Given the description of an element on the screen output the (x, y) to click on. 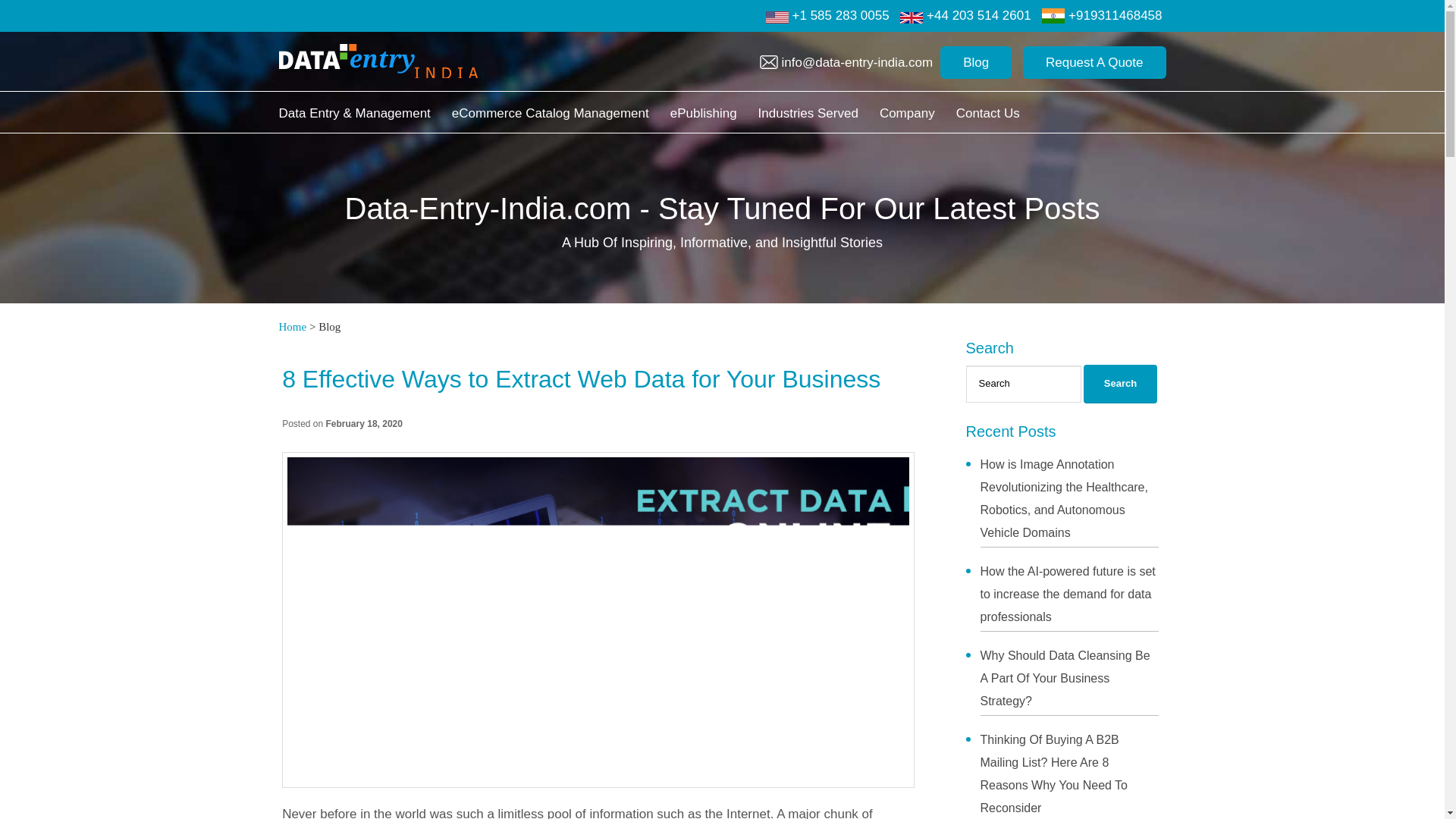
Blog (975, 61)
12:43 pm (364, 423)
Request A Quote (1094, 61)
Search (1120, 383)
